Given the description of an element on the screen output the (x, y) to click on. 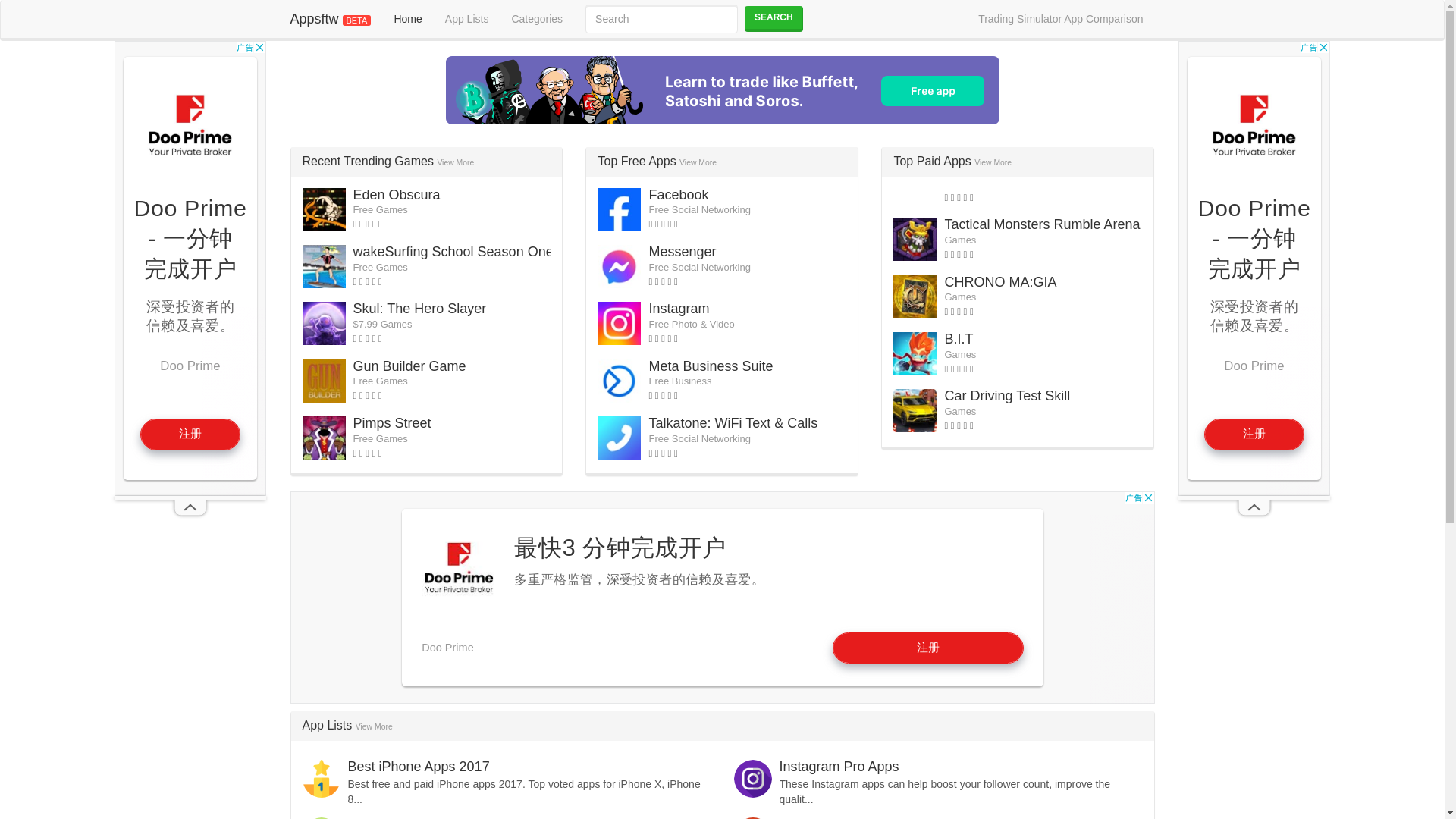
View Tactical Monsters Rumble Arena (1041, 224)
Recent Trending Games View More (387, 160)
View Pimps Street (391, 422)
View Facebook (677, 194)
Eden Obscura (397, 194)
B.I.T (957, 338)
Home (406, 18)
View CHRONO MA:GIA (1000, 281)
View Eden Obscura (397, 194)
Pimps Street (391, 422)
Trading Simulator App Comparison (1060, 18)
Top Free Apps View More (656, 160)
View Gun Builder Game (409, 365)
Tactical Monsters Rumble Arena (1041, 224)
Skul: The Hero Slayer (419, 308)
